Given the description of an element on the screen output the (x, y) to click on. 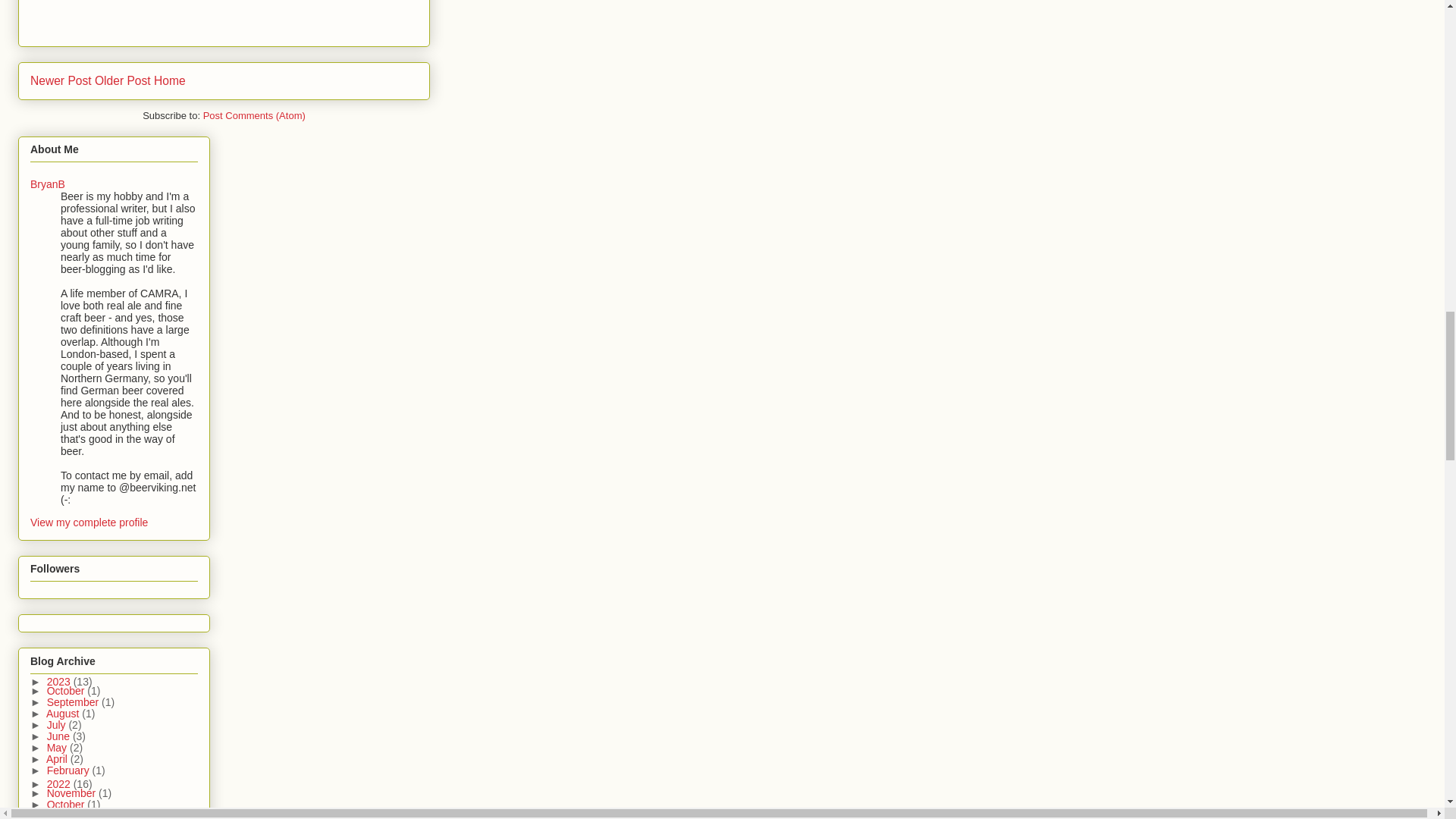
Older Post (122, 80)
Newer Post (60, 80)
Newer Post (60, 80)
Older Post (122, 80)
